Given the description of an element on the screen output the (x, y) to click on. 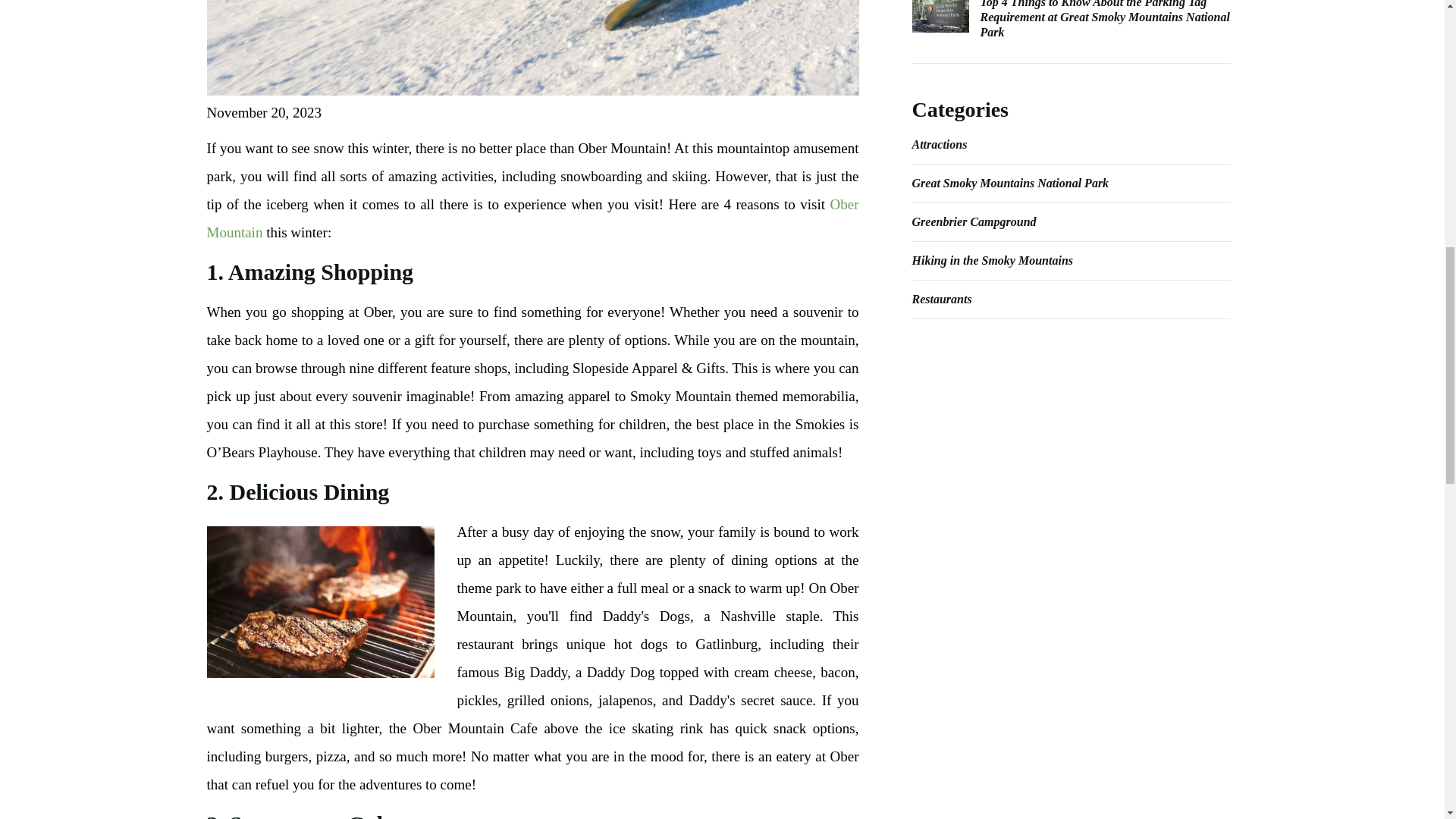
Ober Mountain  (532, 218)
